Given the description of an element on the screen output the (x, y) to click on. 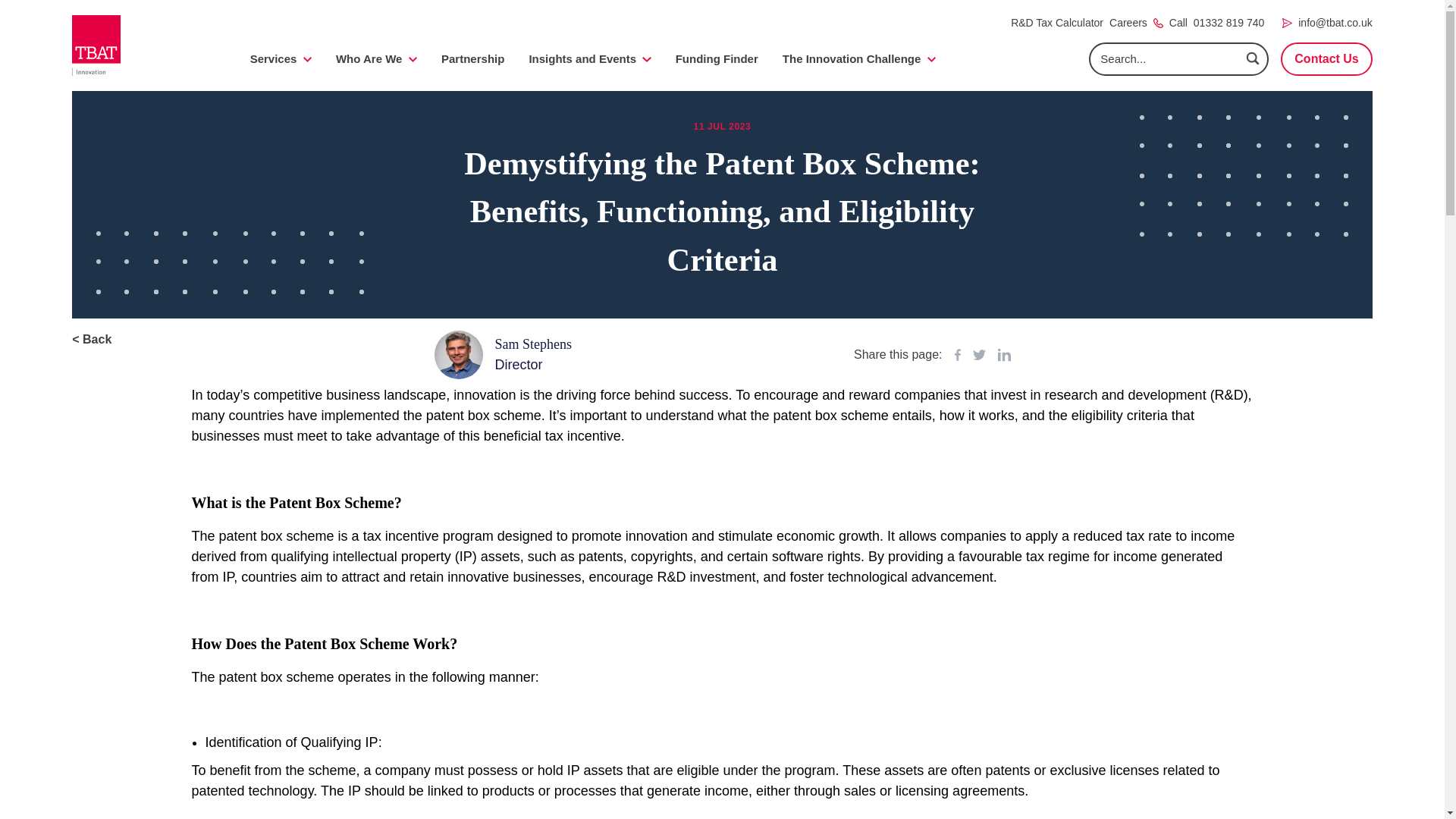
01332 819 740 (1228, 23)
Who Are We (376, 58)
Services (280, 58)
Search (1252, 57)
Careers (1128, 23)
Insights and Events (589, 58)
Partnership (472, 58)
